Given the description of an element on the screen output the (x, y) to click on. 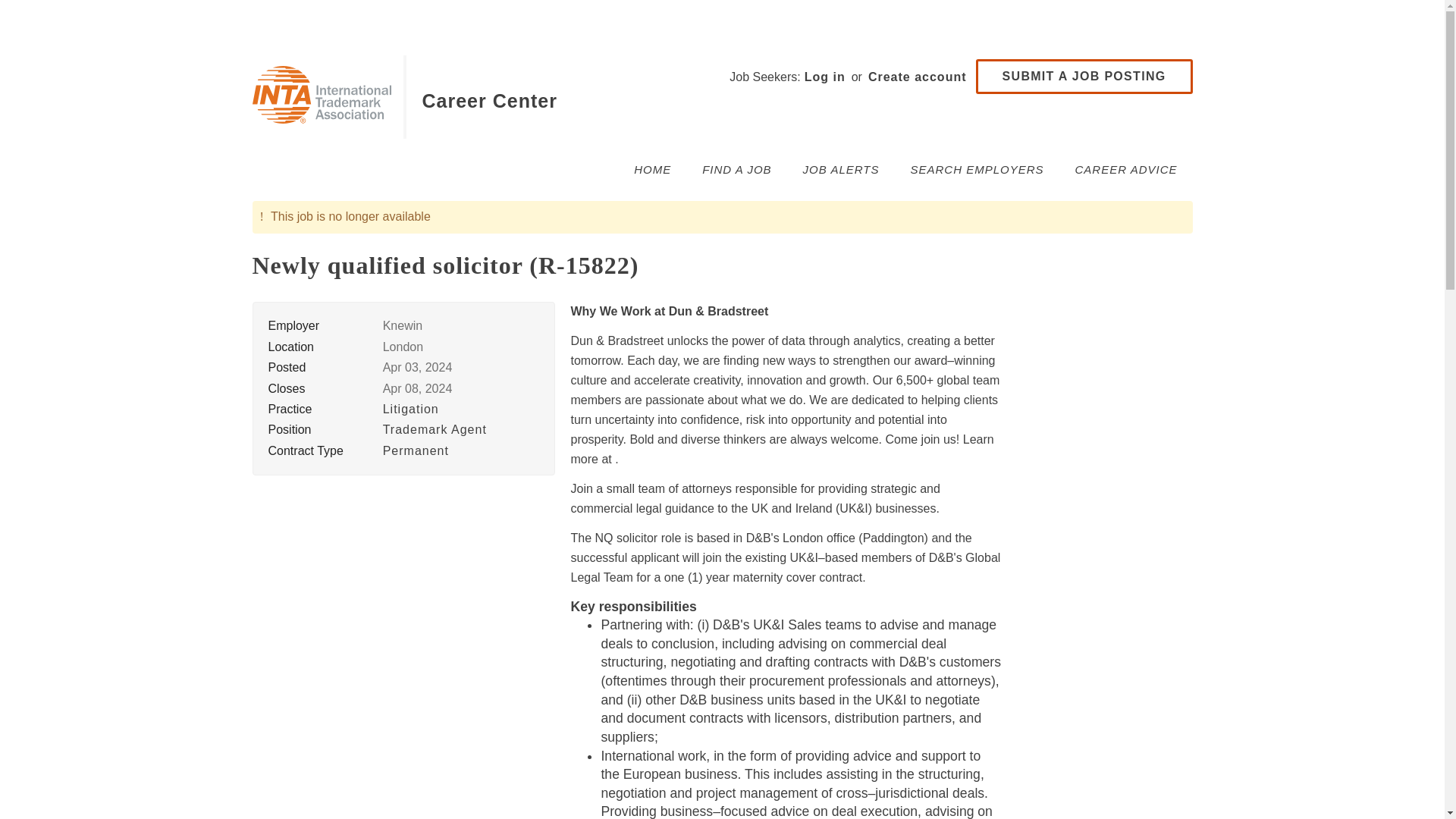
Log in (824, 76)
INTA Career Center (320, 94)
Trademark Agent (434, 429)
JOB ALERTS (841, 169)
CAREER ADVICE (1125, 169)
SEARCH EMPLOYERS (976, 169)
Litigation (410, 408)
FIND A JOB (736, 169)
Permanent (415, 450)
SUBMIT A JOB POSTING (1083, 76)
HOME (651, 169)
Create account (917, 76)
